Given the description of an element on the screen output the (x, y) to click on. 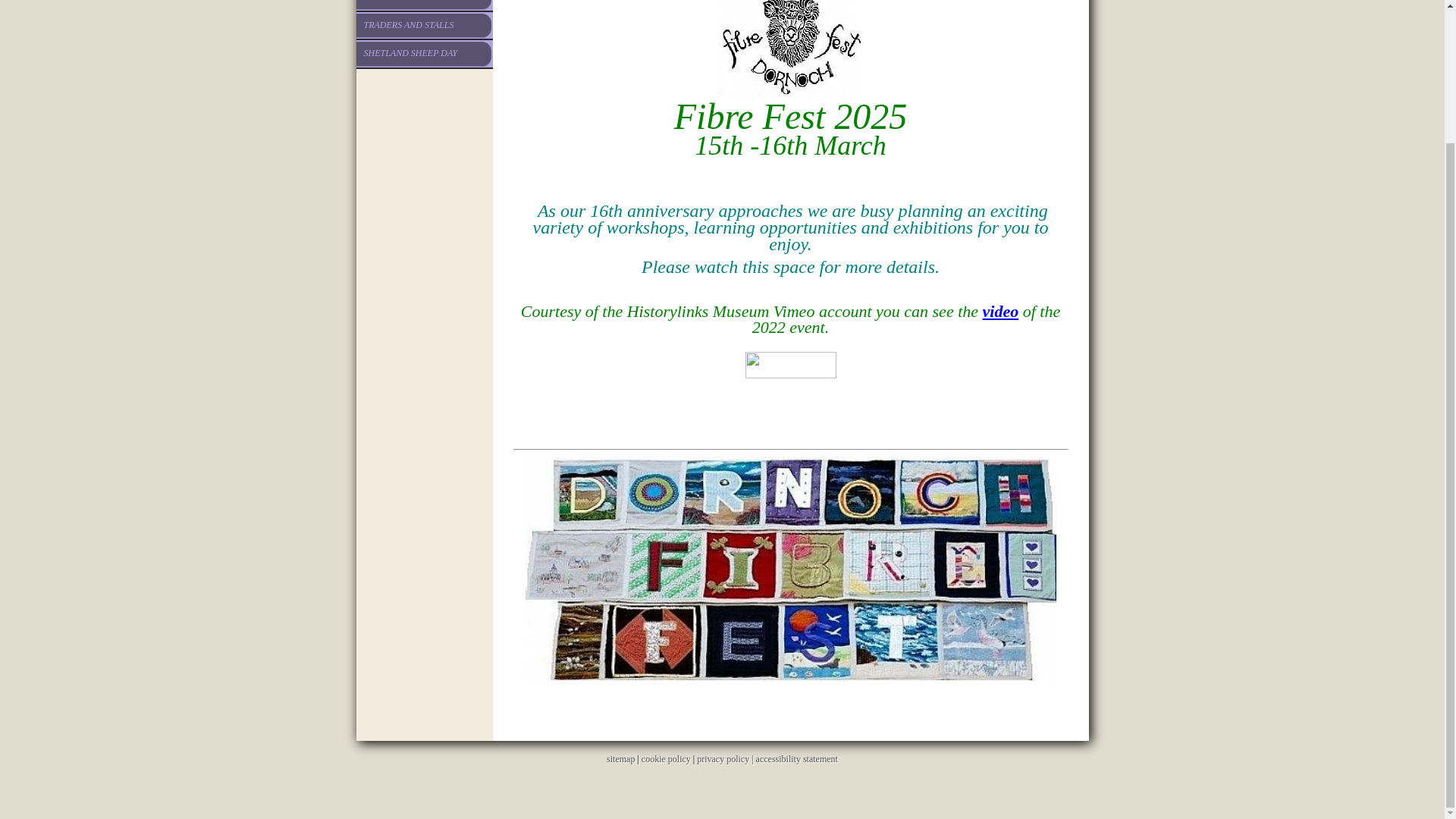
sitemap (620, 758)
video (1000, 311)
WELCOME (424, 5)
TRADERS AND STALLS (424, 25)
SHETLAND SHEEP DAY (424, 53)
cookie policy (666, 758)
accessibility statement (796, 758)
